Given the description of an element on the screen output the (x, y) to click on. 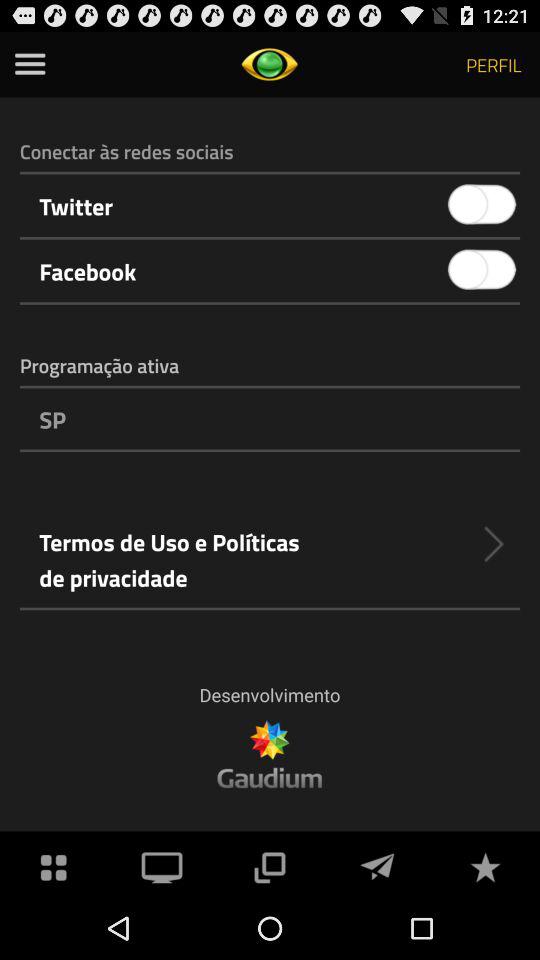
click menu option (29, 64)
